Given the description of an element on the screen output the (x, y) to click on. 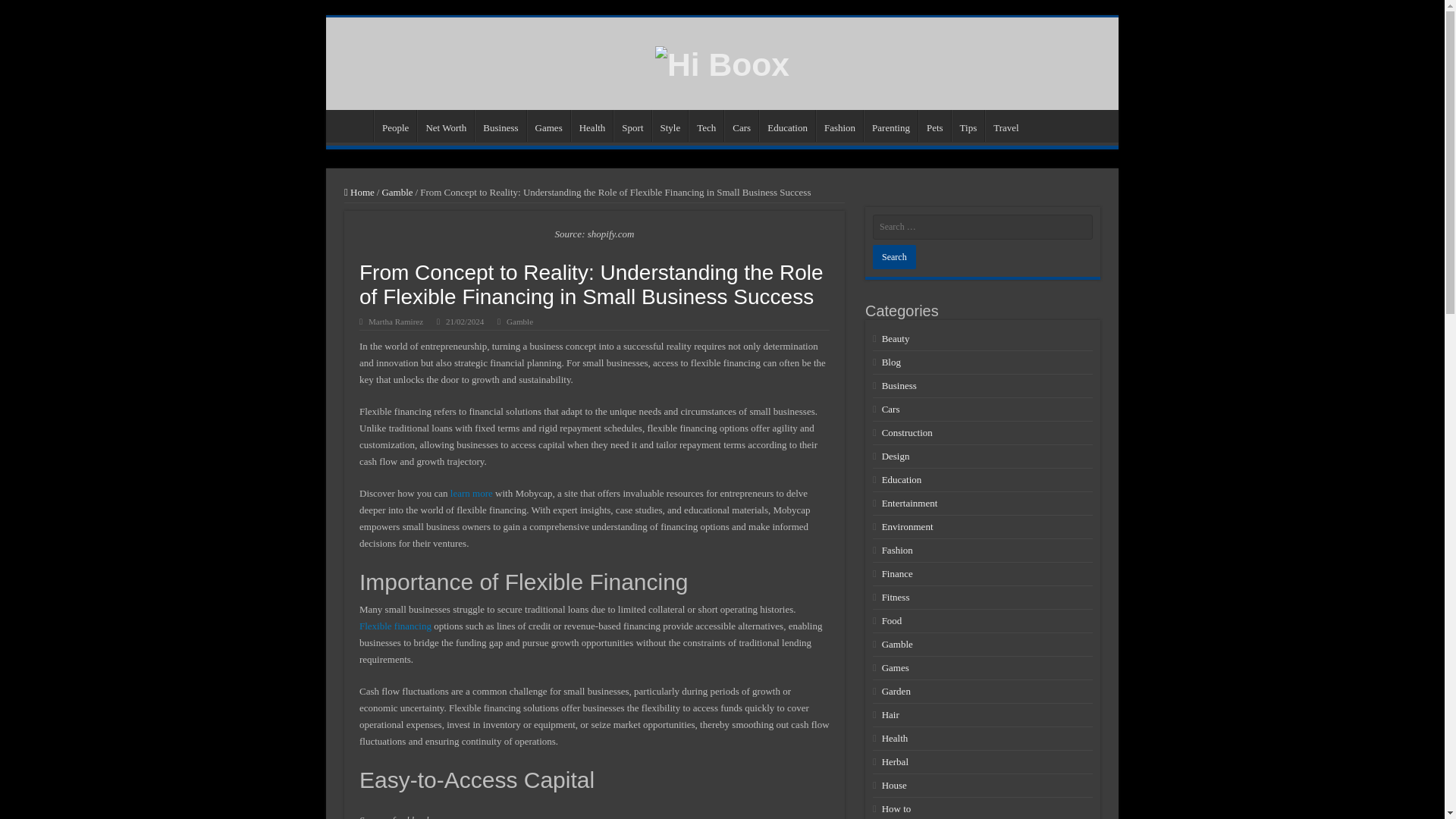
Hi Boox (722, 62)
Search (893, 256)
Flexible financing (394, 625)
People (395, 125)
Business (499, 125)
Home (352, 125)
Gamble (519, 320)
Cars (740, 125)
Style (670, 125)
Martha Ramirez (395, 320)
